Given the description of an element on the screen output the (x, y) to click on. 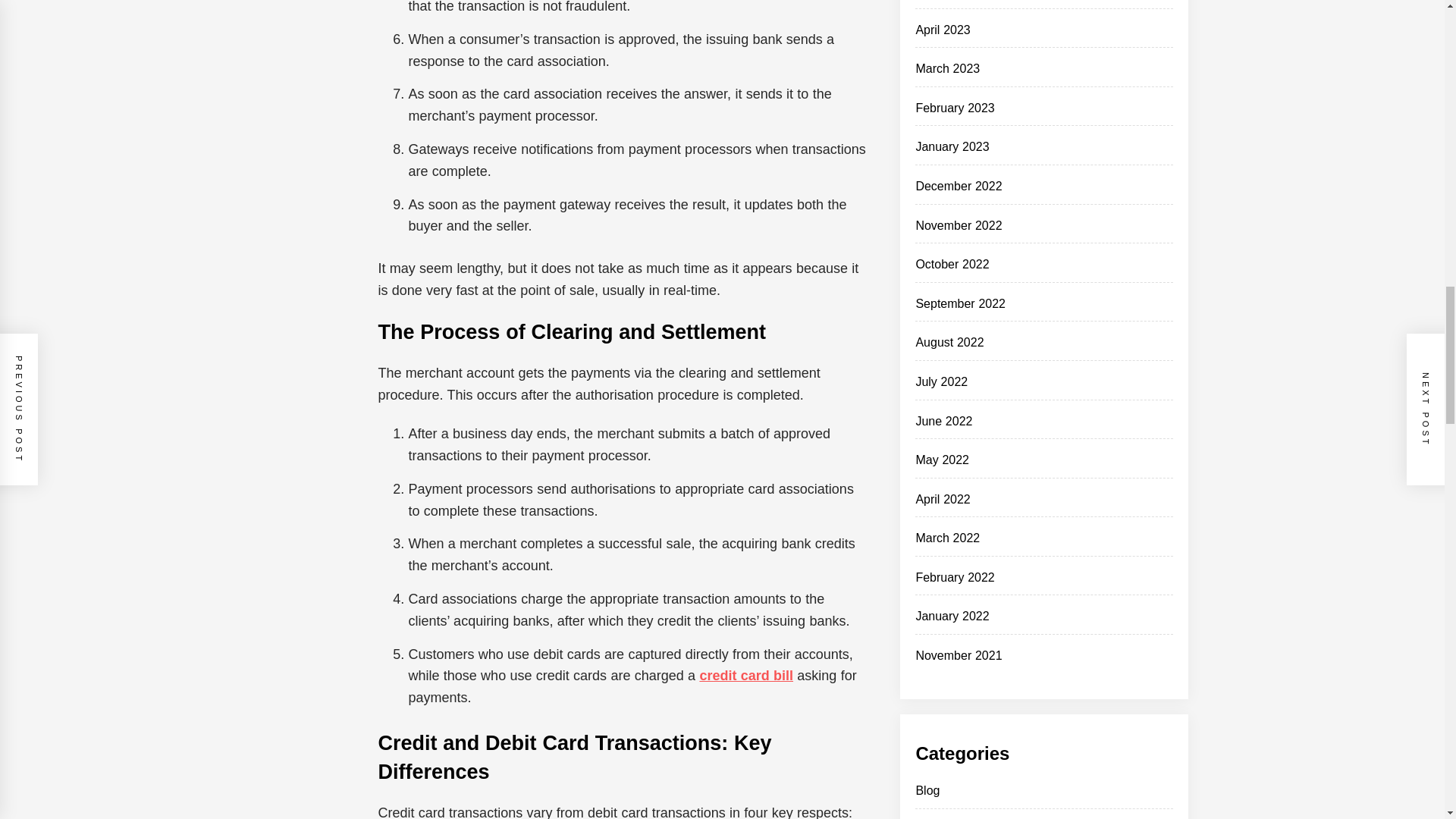
credit card bill (745, 675)
